Given the description of an element on the screen output the (x, y) to click on. 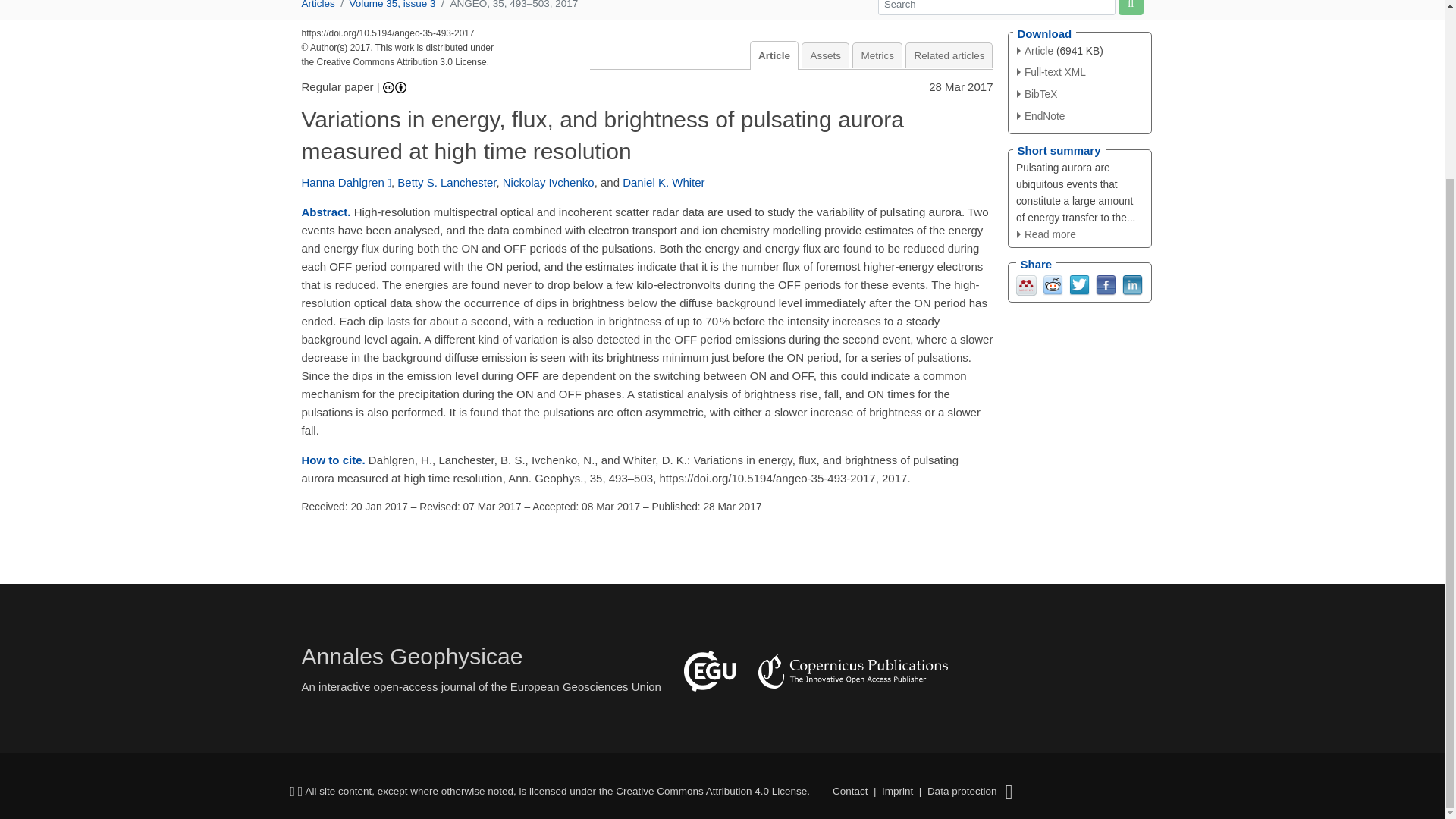
Twitter (1078, 284)
XML Version (1051, 71)
Facebook (1104, 284)
Mendeley (1026, 284)
Start site search (1130, 7)
Reddit (1052, 284)
